Given the description of an element on the screen output the (x, y) to click on. 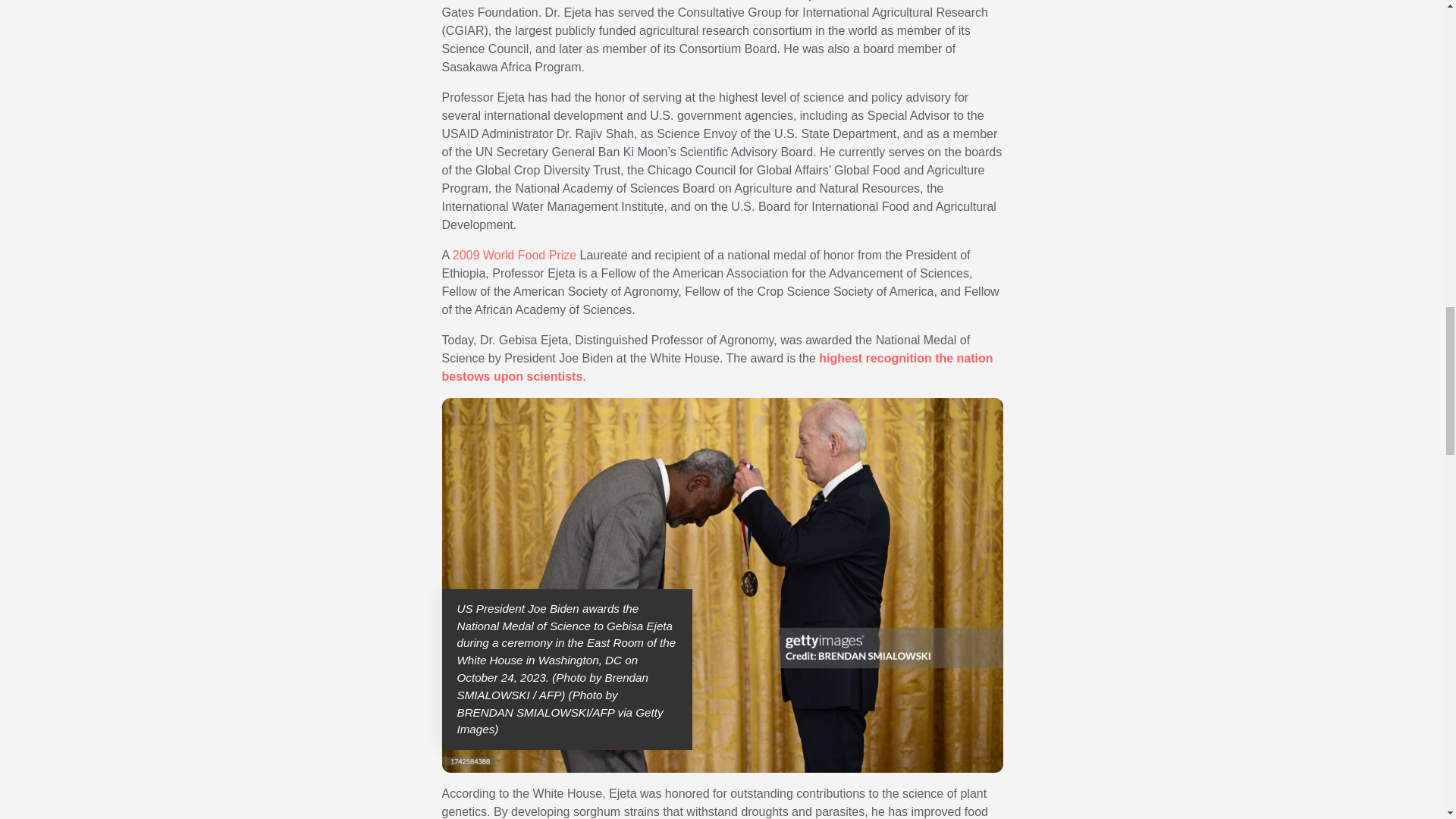
highest recognition the nation bestows upon scientists (716, 367)
2009 World Food Prize (514, 254)
